Given the description of an element on the screen output the (x, y) to click on. 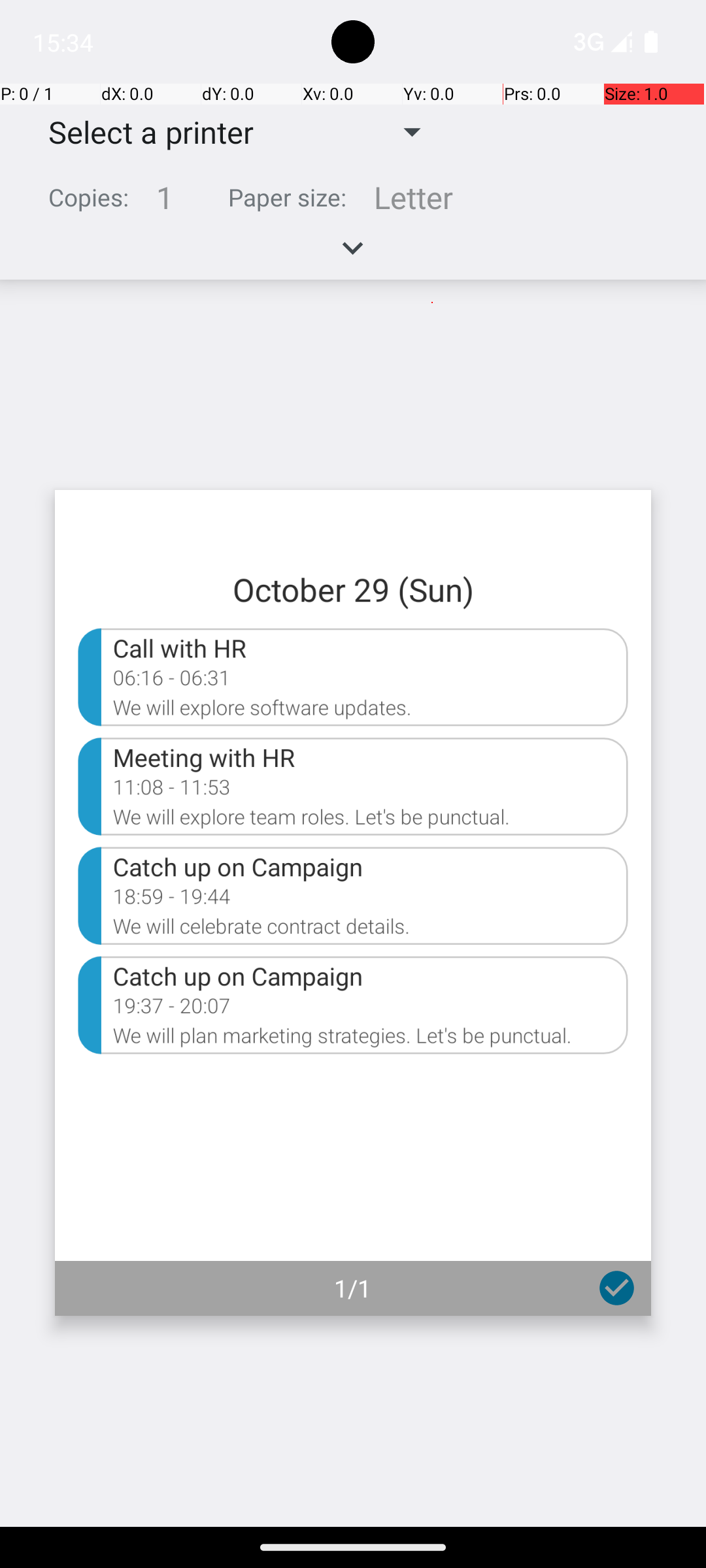
Expand handle Element type: android.widget.FrameLayout (353, 255)
Summary, copies 1, paper size Letter Element type: android.widget.LinearLayout (353, 202)
Select a printer Element type: android.widget.TextView (140, 131)
Copies: Element type: android.widget.TextView (88, 196)
Paper size: Element type: android.widget.TextView (287, 196)
